Given the description of an element on the screen output the (x, y) to click on. 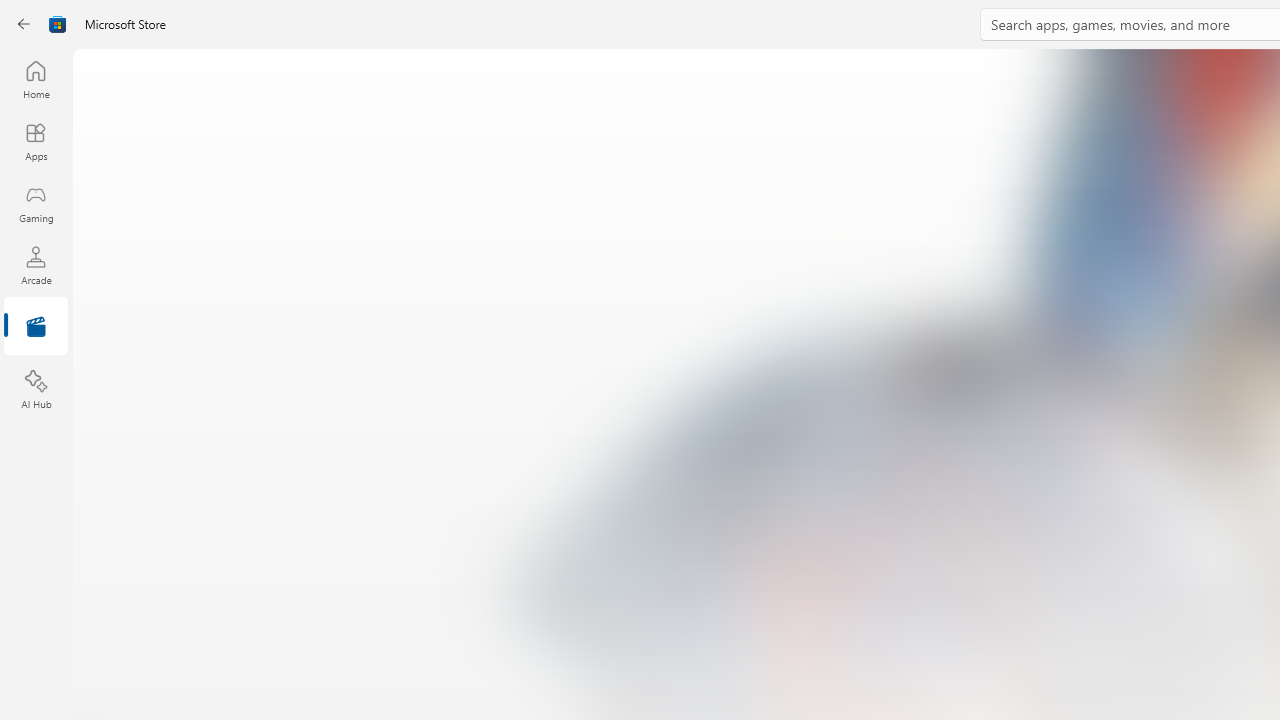
Apps (35, 141)
Entertainment (35, 327)
Gaming (35, 203)
Class: Image (58, 24)
AI Hub (35, 390)
Arcade (35, 265)
Back (24, 24)
Home (35, 79)
